Given the description of an element on the screen output the (x, y) to click on. 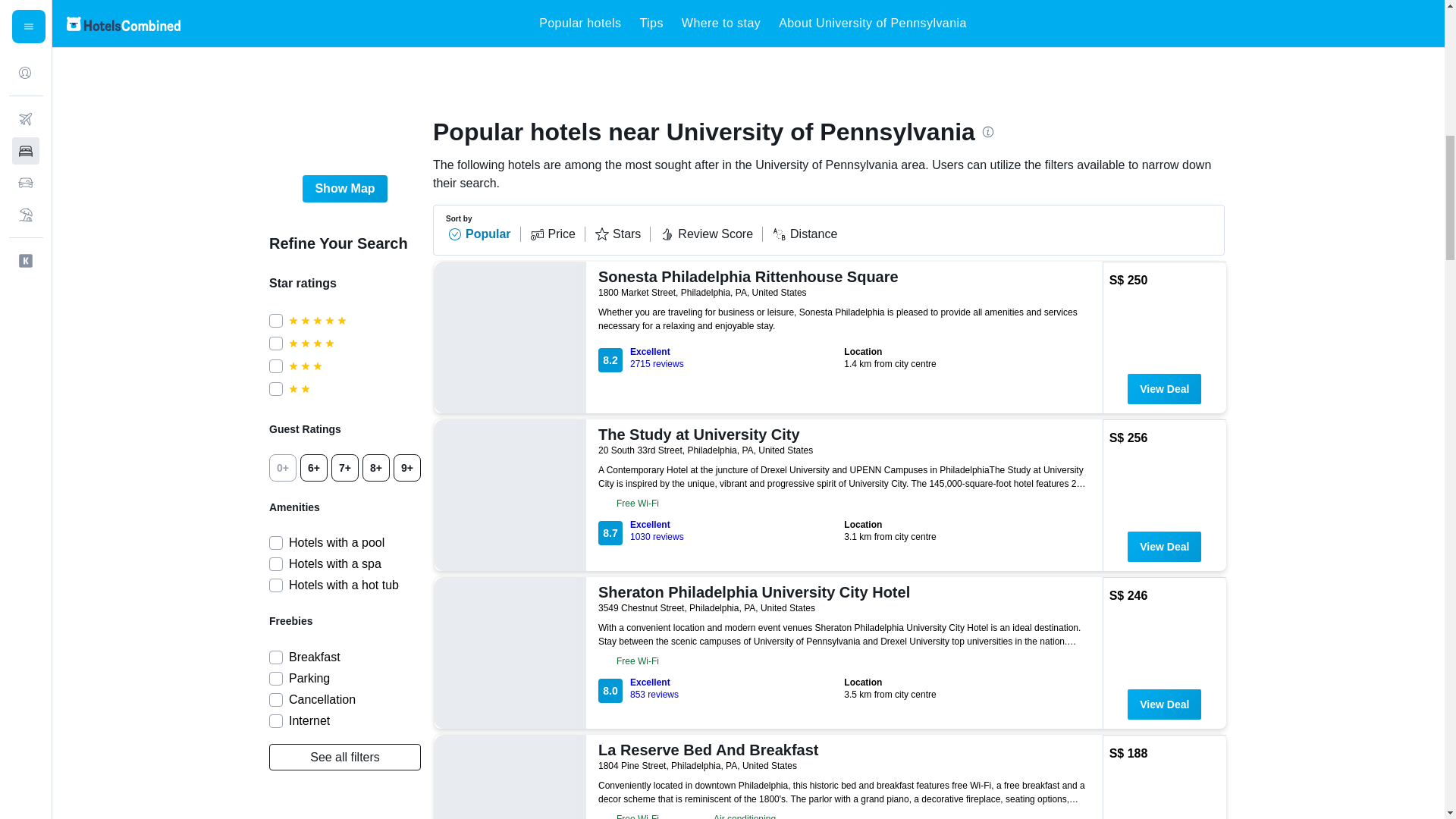
3 stars (354, 366)
Price (557, 233)
United States Hotels (445, 22)
Philadelphia Hotels (710, 22)
Stars (622, 233)
4 stars (354, 343)
West Philadelphia Hotels (843, 22)
See all filters (344, 757)
Show Map (344, 188)
Home (373, 22)
